Given the description of an element on the screen output the (x, y) to click on. 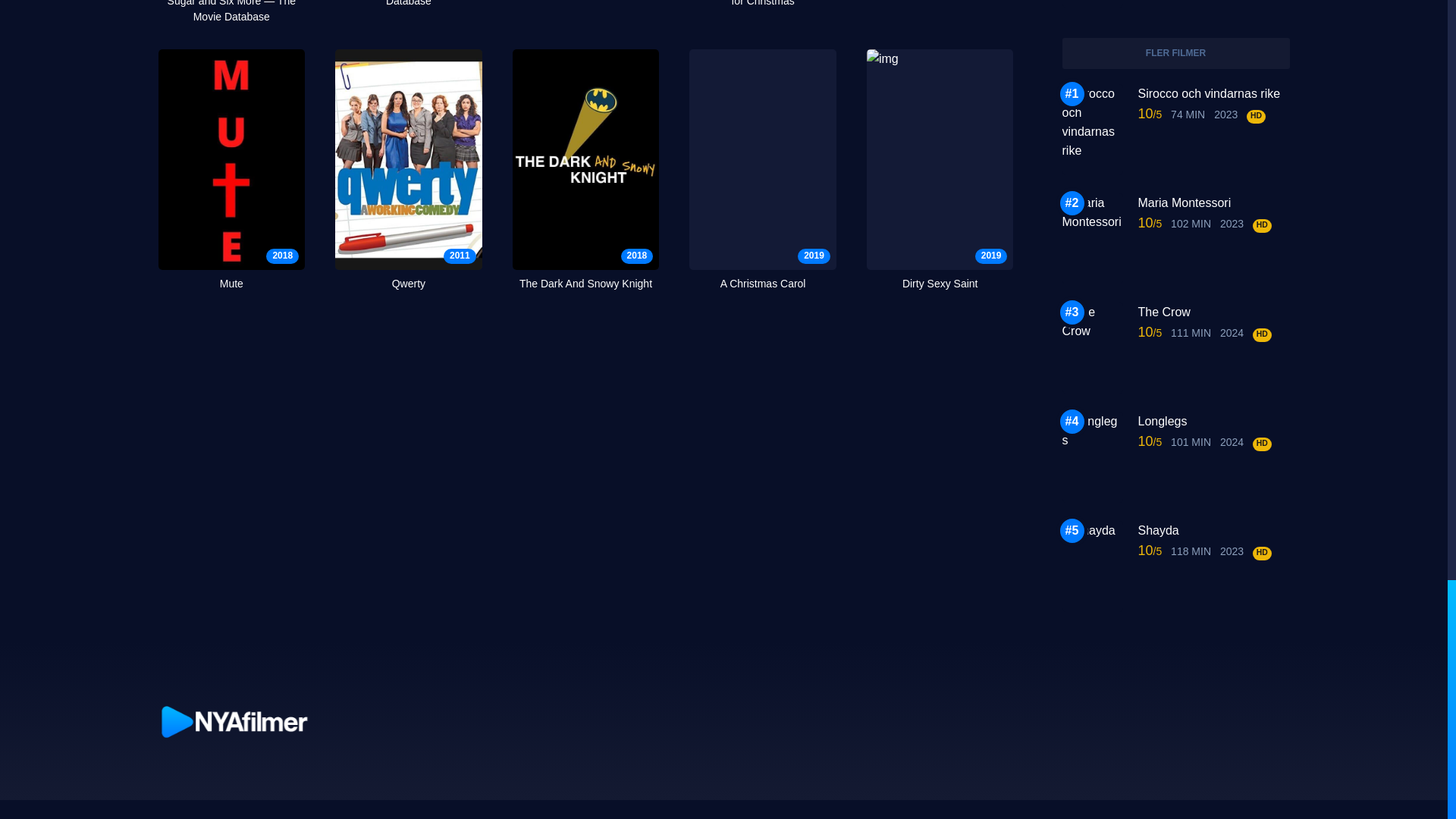
Maria Montessori (1212, 202)
Shayda (1212, 529)
The Crow (761, 4)
Sirocco och vindarnas rike (1212, 311)
Longlegs (1212, 93)
